Given the description of an element on the screen output the (x, y) to click on. 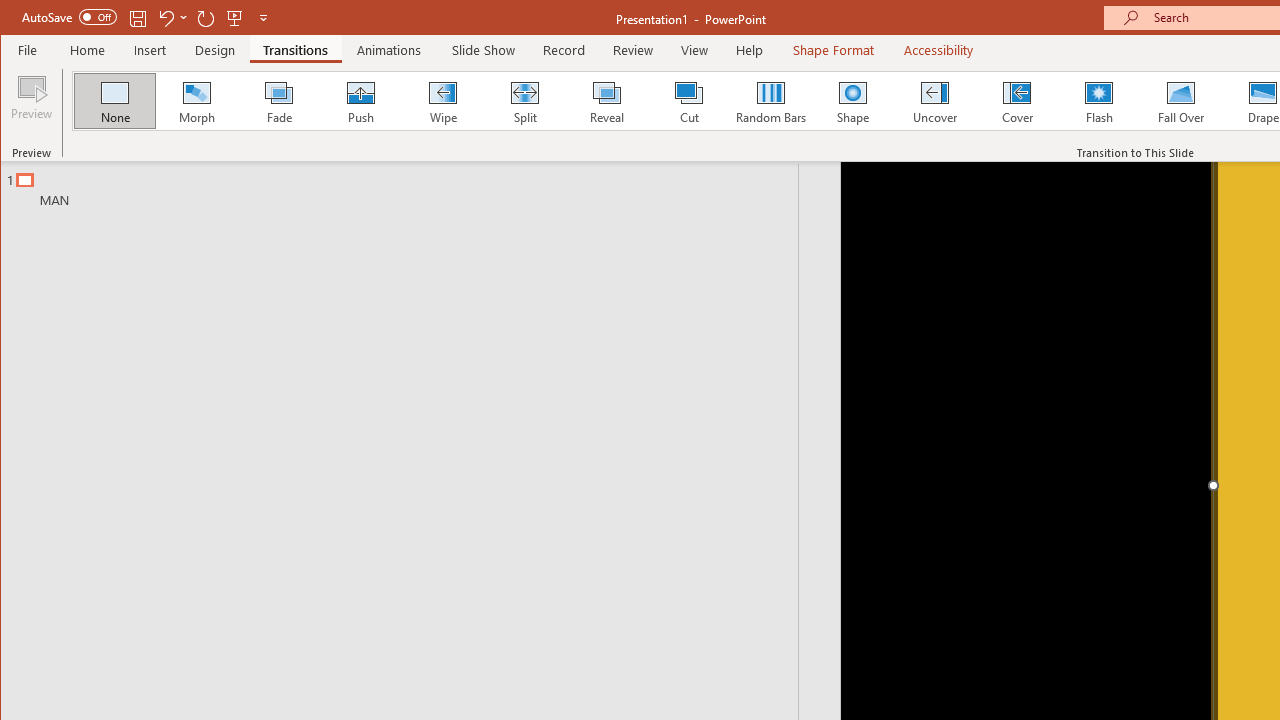
Shape Format (833, 50)
None (115, 100)
Push (360, 100)
Flash (1099, 100)
Morph (197, 100)
Fade (279, 100)
Cover (1016, 100)
